Given the description of an element on the screen output the (x, y) to click on. 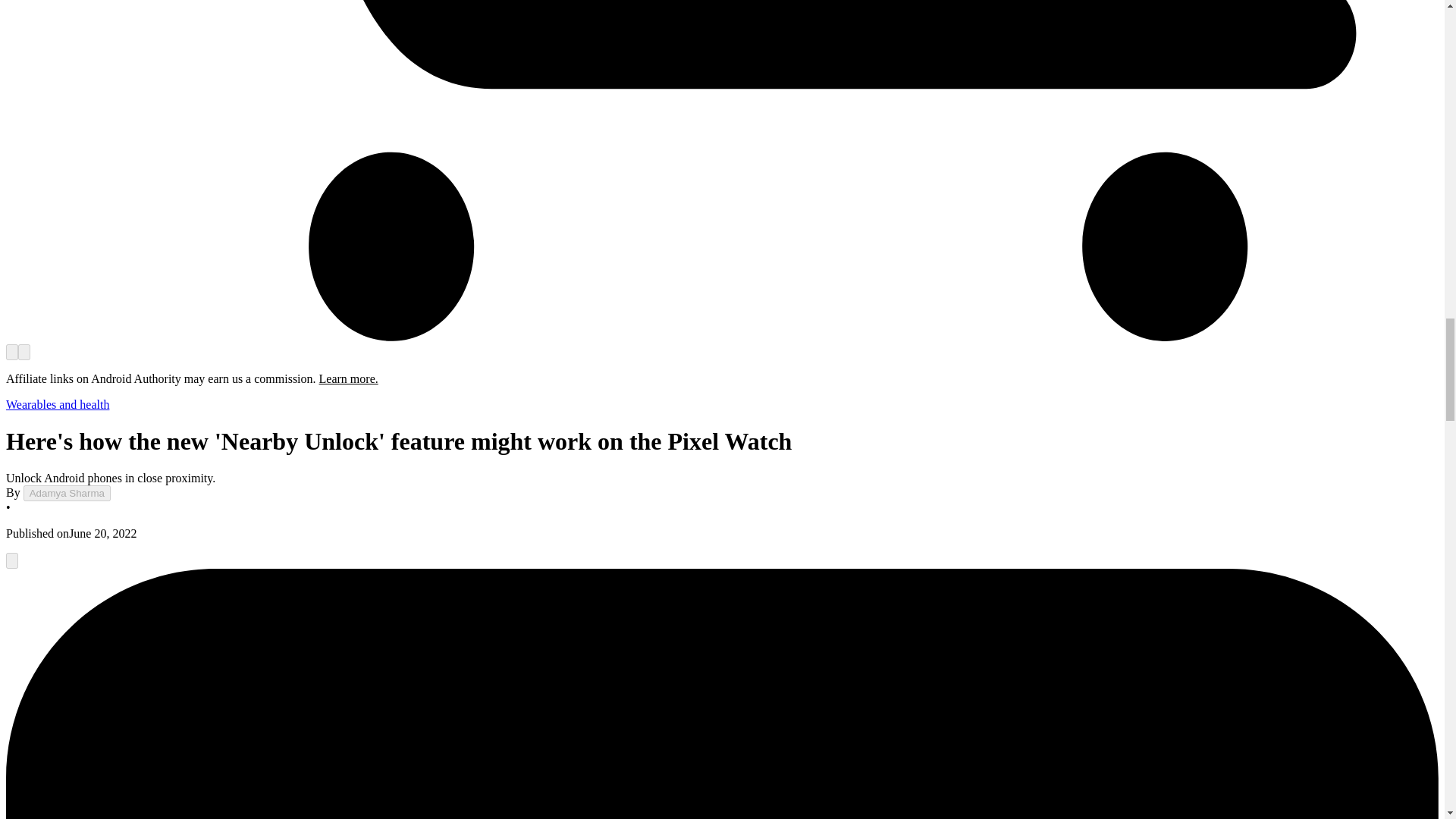
Wearables and health (57, 404)
Learn more. (348, 378)
Adamya Sharma (66, 493)
